Given the description of an element on the screen output the (x, y) to click on. 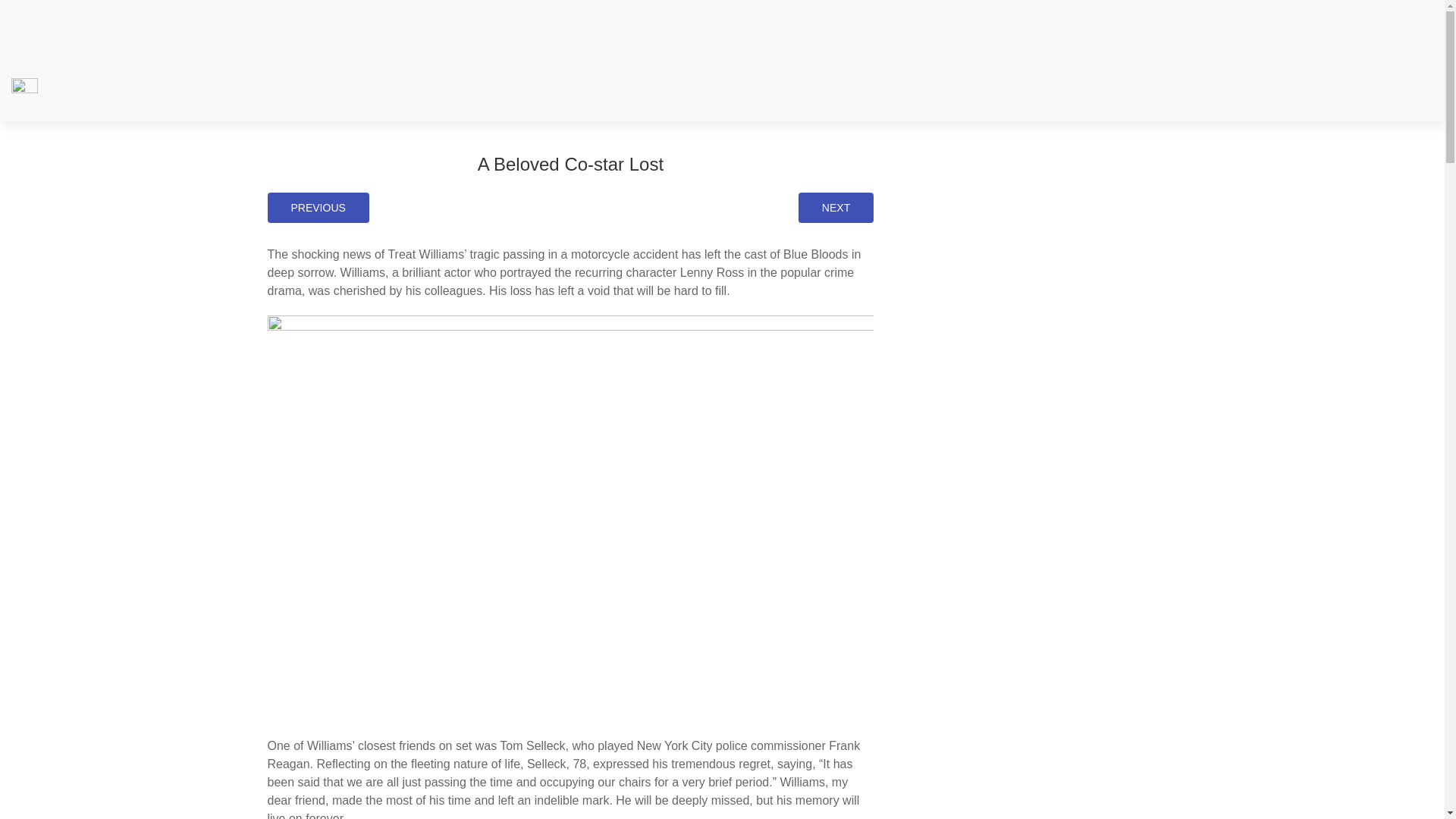
PREVIOUS (317, 207)
NEXT (835, 207)
